Given the description of an element on the screen output the (x, y) to click on. 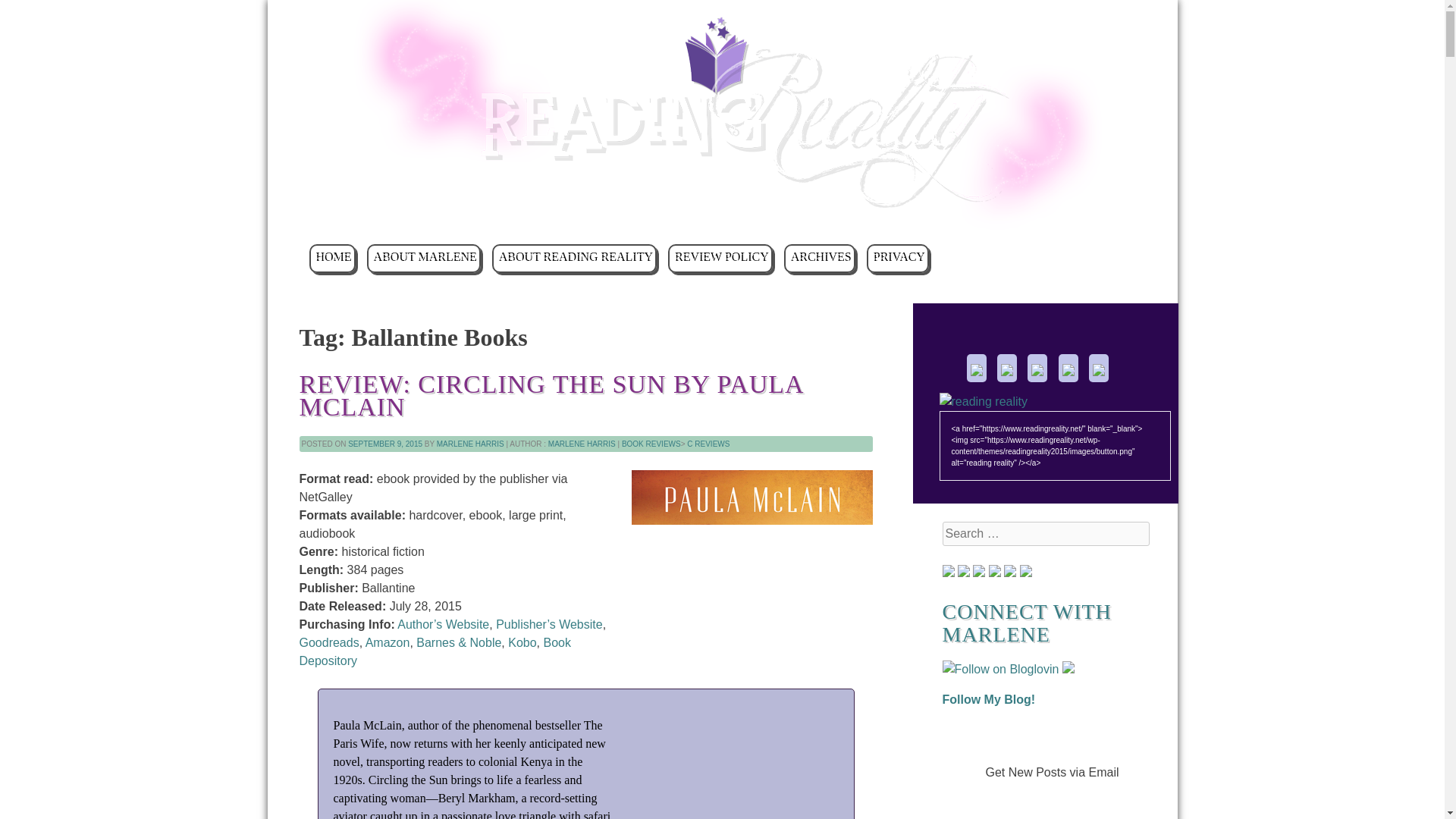
MARLENE HARRIS (469, 443)
REVIEW POLICY (720, 258)
Goodreads (328, 642)
C REVIEWS (708, 443)
Posts by Marlene Harris (581, 443)
Book Depository (434, 651)
BOOK REVIEWS (651, 443)
ABOUT READING REALITY (574, 258)
MARLENE HARRIS (581, 443)
ABOUT MARLENE (423, 258)
ARCHIVES (820, 258)
Kobo (521, 642)
PRIVACY (897, 258)
SEPTEMBER 9, 2015 (384, 443)
REVIEW: CIRCLING THE SUN BY PAULA MCLAIN (550, 395)
